Given the description of an element on the screen output the (x, y) to click on. 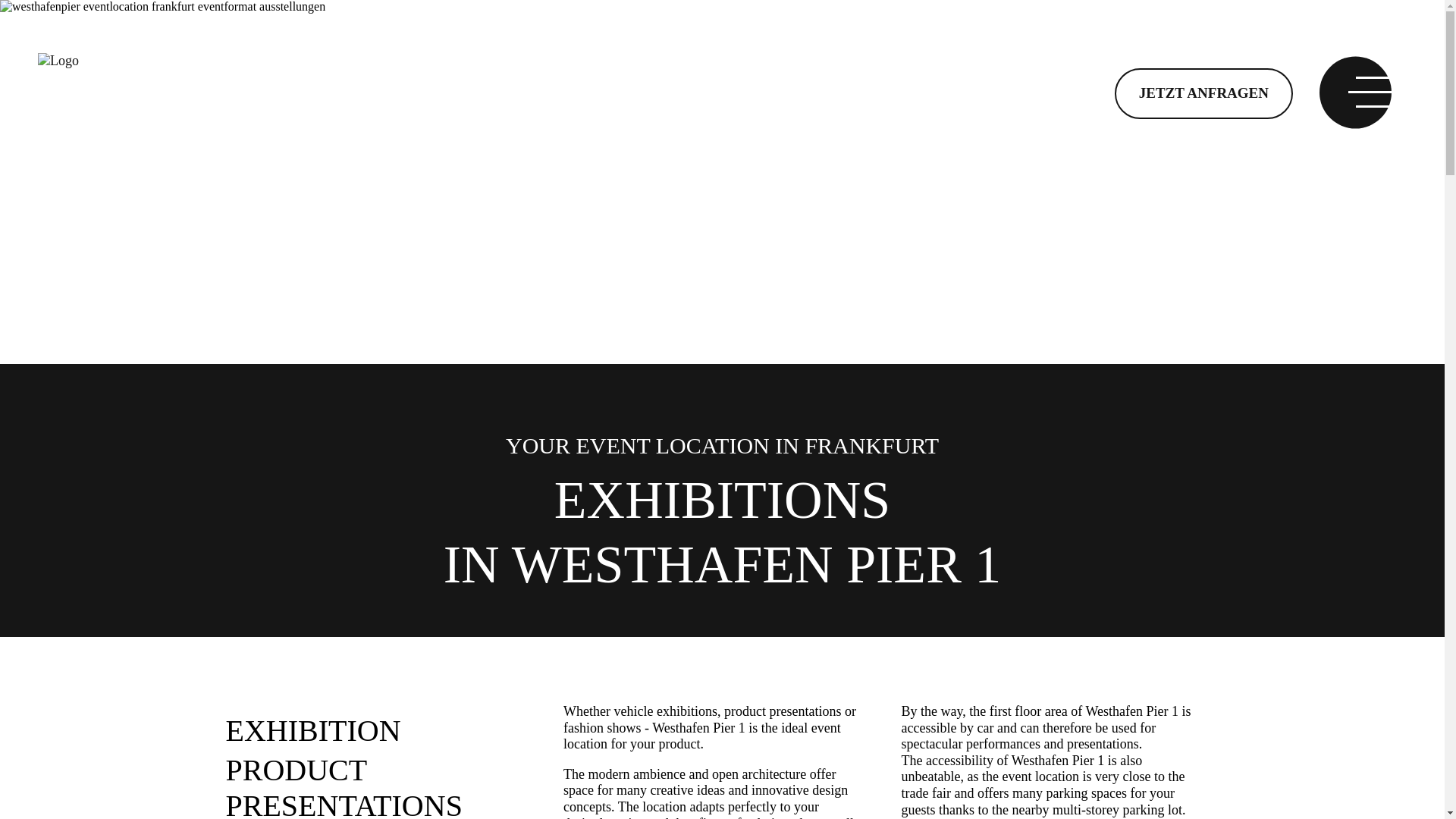
JETZT ANFRAGEN (1203, 92)
Logo (57, 61)
